Given the description of an element on the screen output the (x, y) to click on. 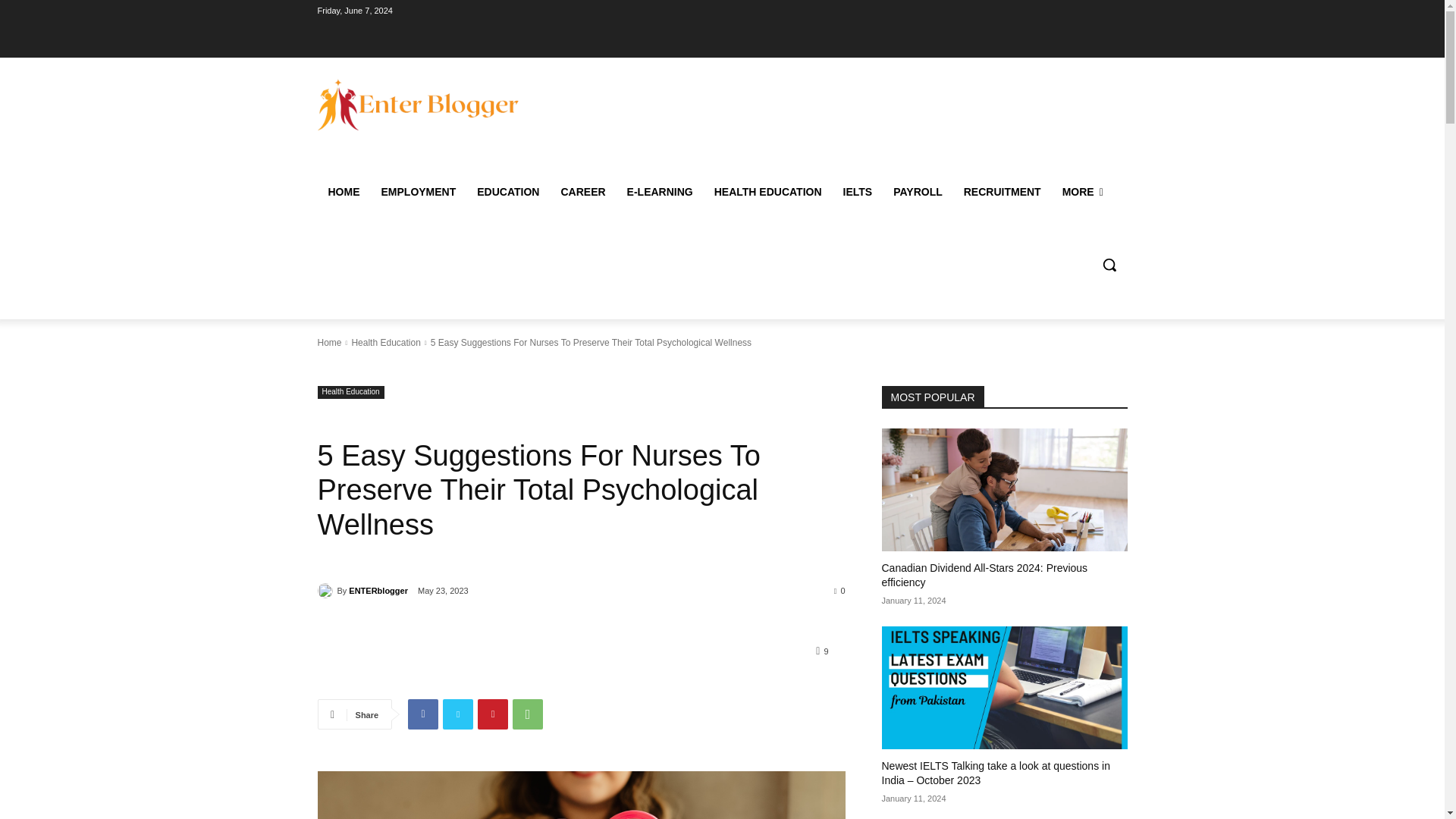
Twitter (457, 714)
EMPLOYMENT (417, 191)
View all posts in Health Education (385, 342)
ENTERblogger (326, 590)
Facebook (422, 714)
HOME (343, 191)
Pinterest (492, 714)
WhatsApp (527, 714)
